Given the description of an element on the screen output the (x, y) to click on. 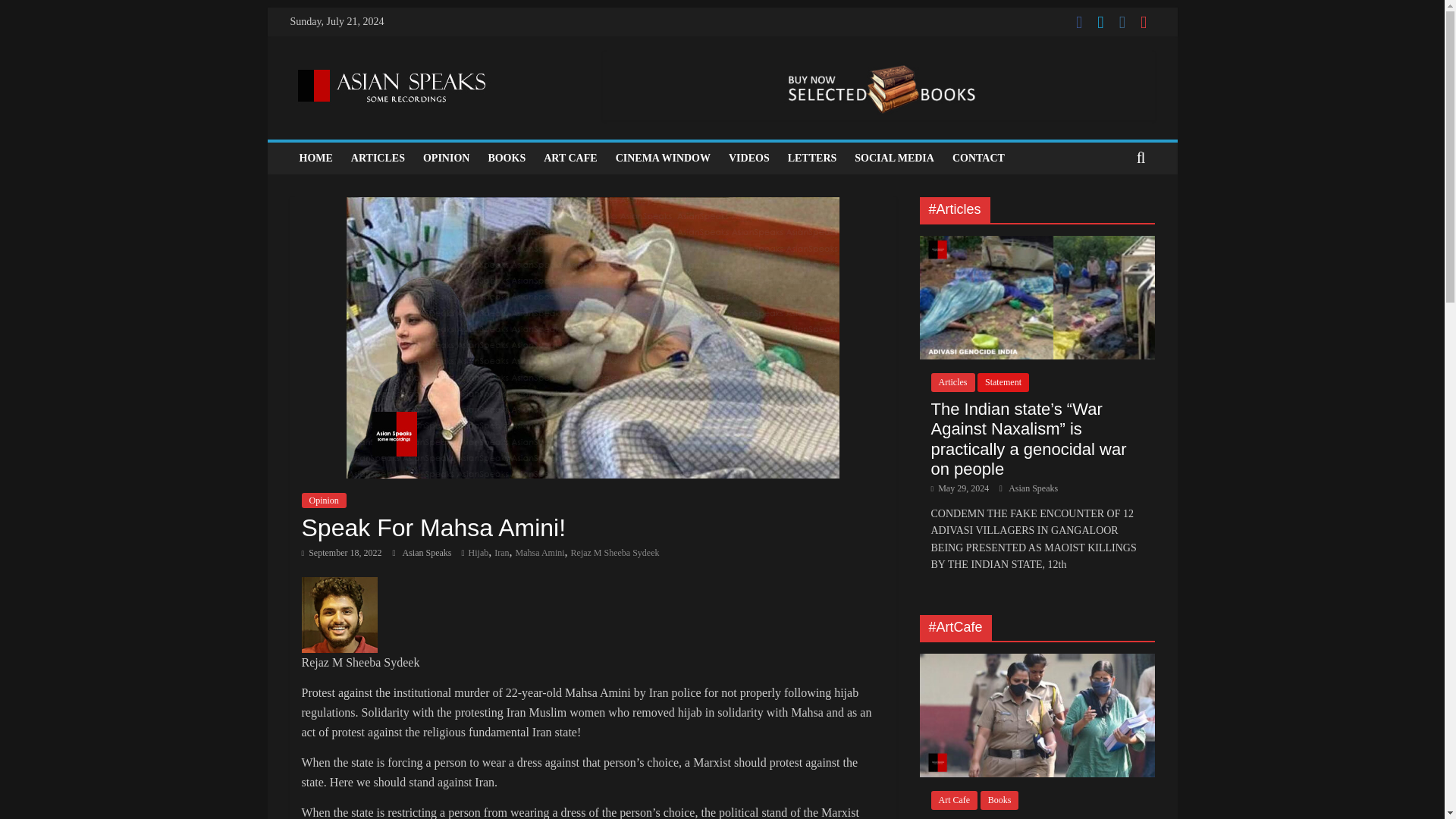
Asian Speaks (428, 552)
CINEMA WINDOW (663, 158)
Iran (501, 552)
BOOKS (506, 158)
VIDEOS (748, 158)
September 18, 2022 (341, 552)
4:13 pm (341, 552)
Opinion (323, 500)
HOME (314, 158)
Mahsa Amini (539, 552)
ARTICLES (377, 158)
Asian Speaks (428, 552)
CONTACT (978, 158)
Rejaz M Sheeba Sydeek (614, 552)
